Given the description of an element on the screen output the (x, y) to click on. 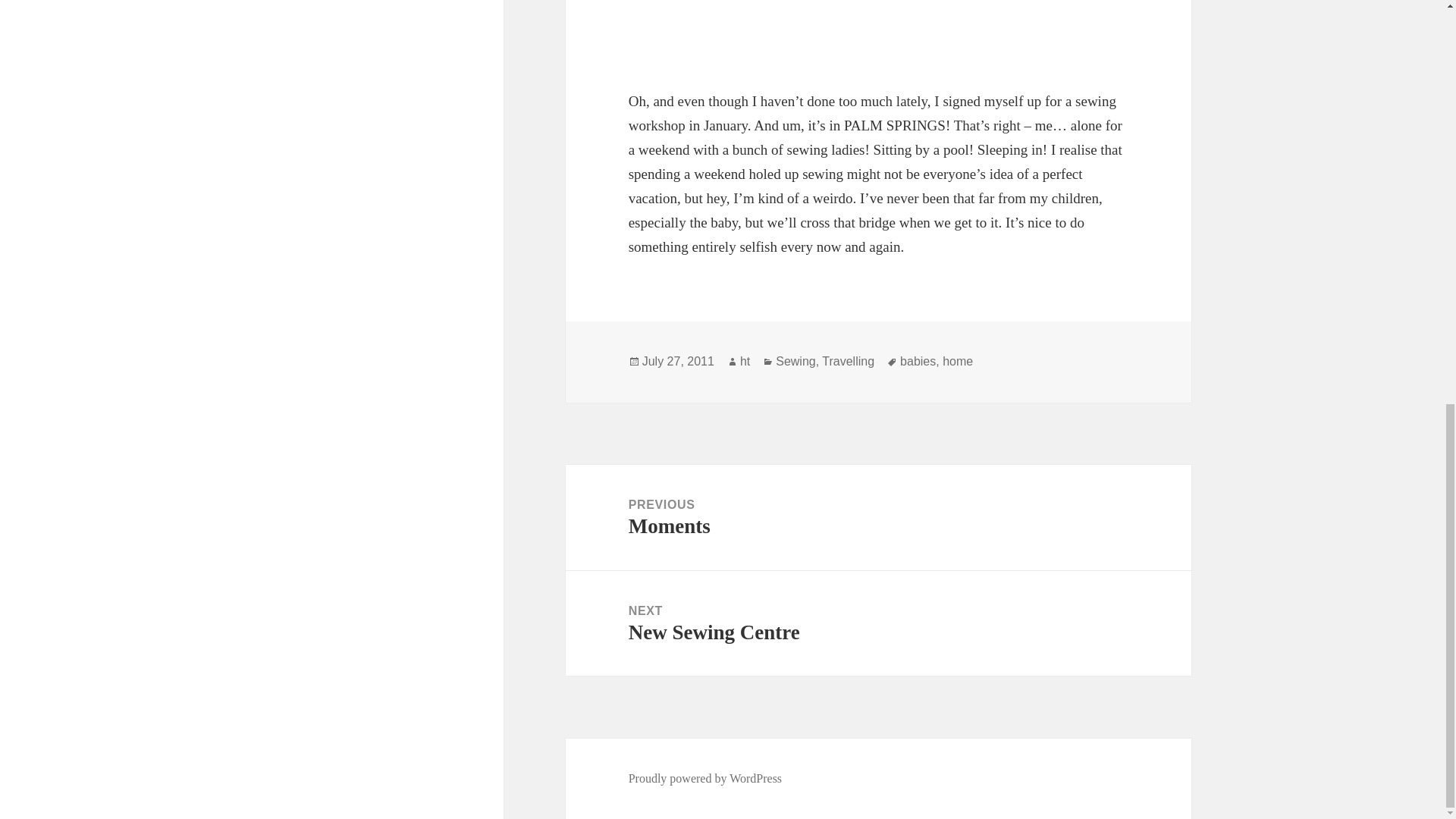
Sewing (878, 517)
babies (878, 623)
July 27, 2011 (795, 361)
Travelling (917, 361)
home (678, 361)
Proudly powered by WordPress (848, 361)
